Given the description of an element on the screen output the (x, y) to click on. 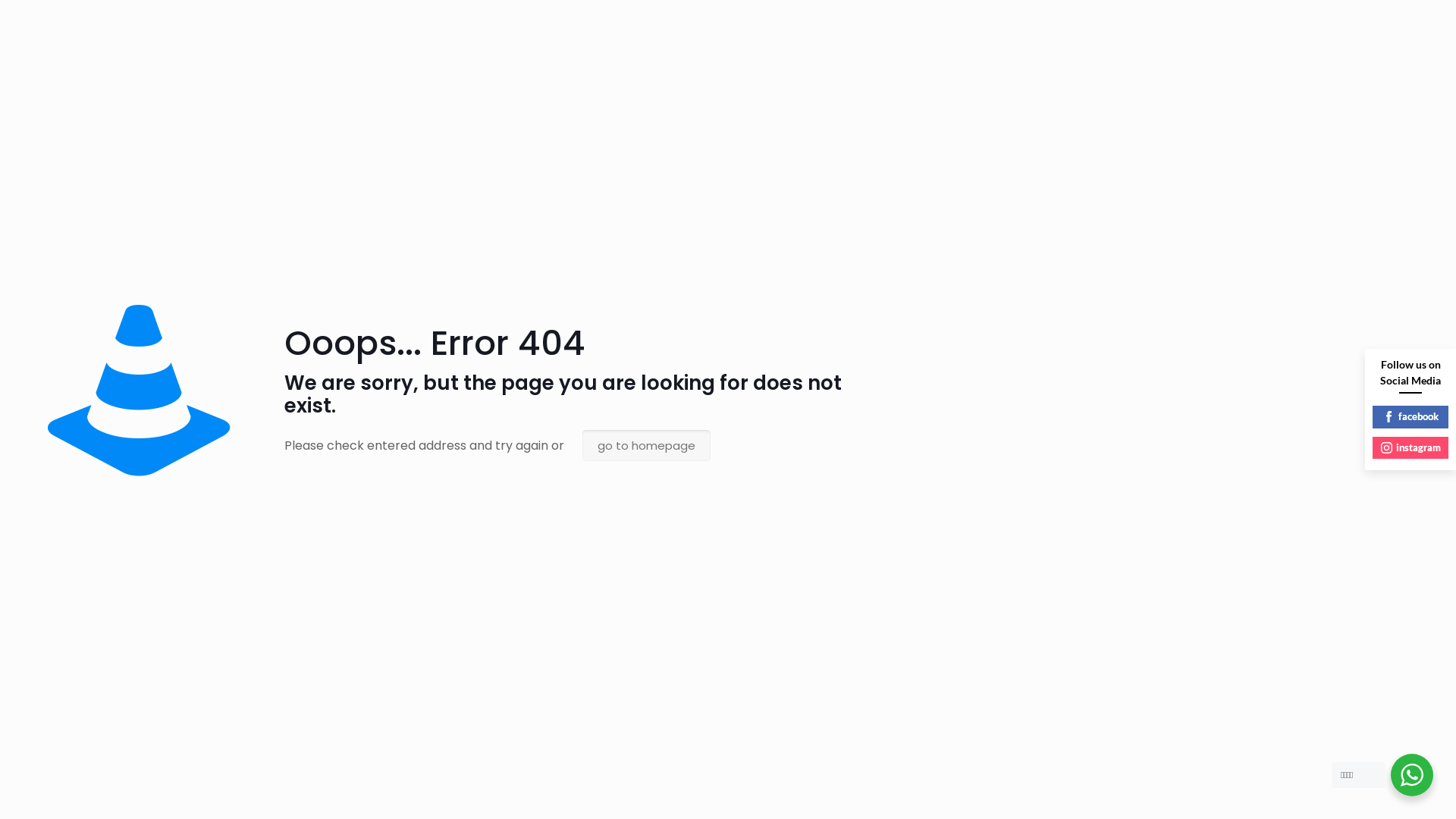
instagram Element type: text (1410, 447)
facebook Element type: text (1410, 416)
go to homepage Element type: text (646, 445)
